Given the description of an element on the screen output the (x, y) to click on. 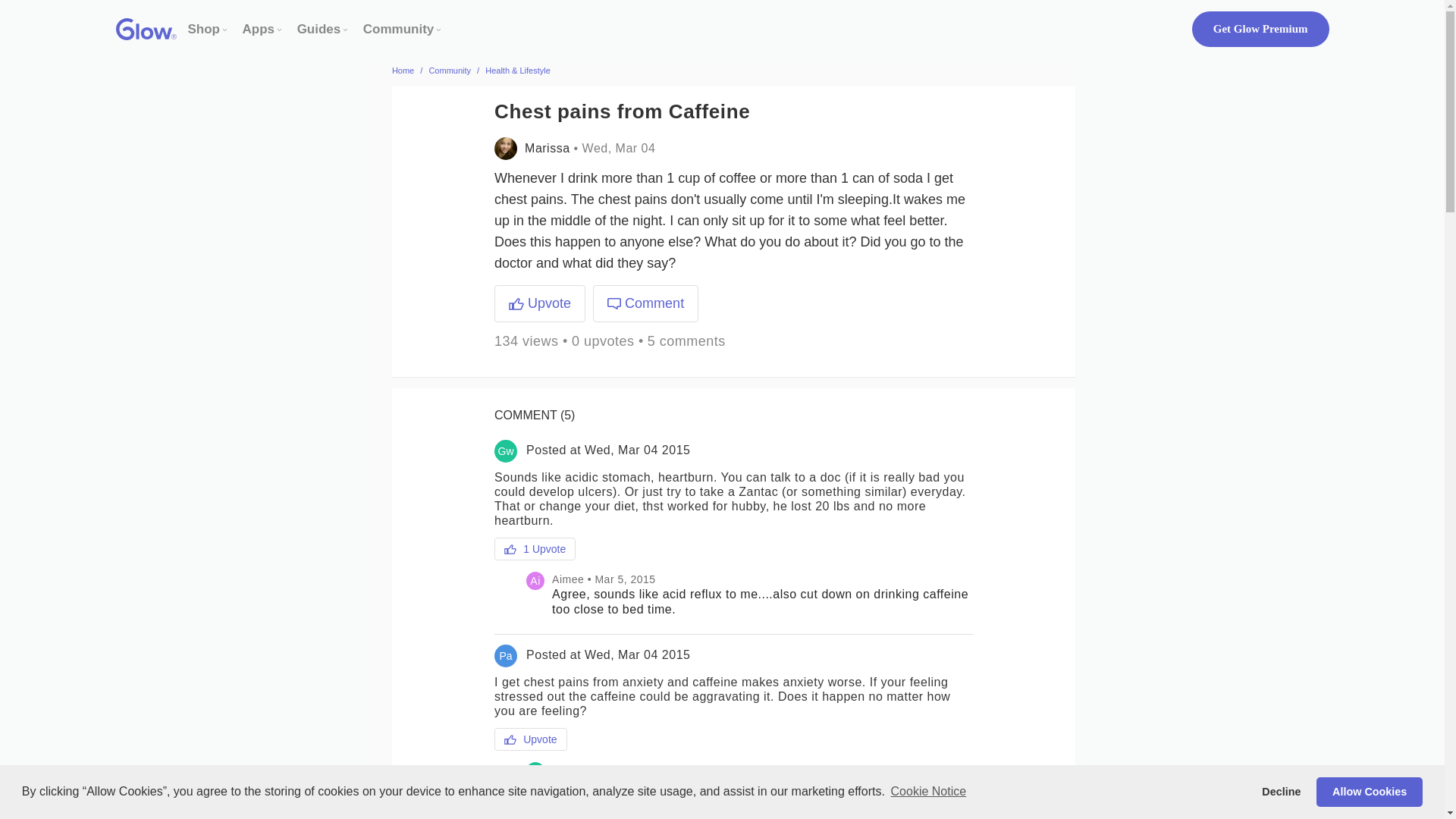
Decline (1281, 791)
Glow Community (397, 28)
Cookie Notice (928, 791)
Apps (259, 28)
Shop (204, 28)
Guides (318, 28)
Allow Cookies (1369, 791)
Glow Shop (204, 28)
